Given the description of an element on the screen output the (x, y) to click on. 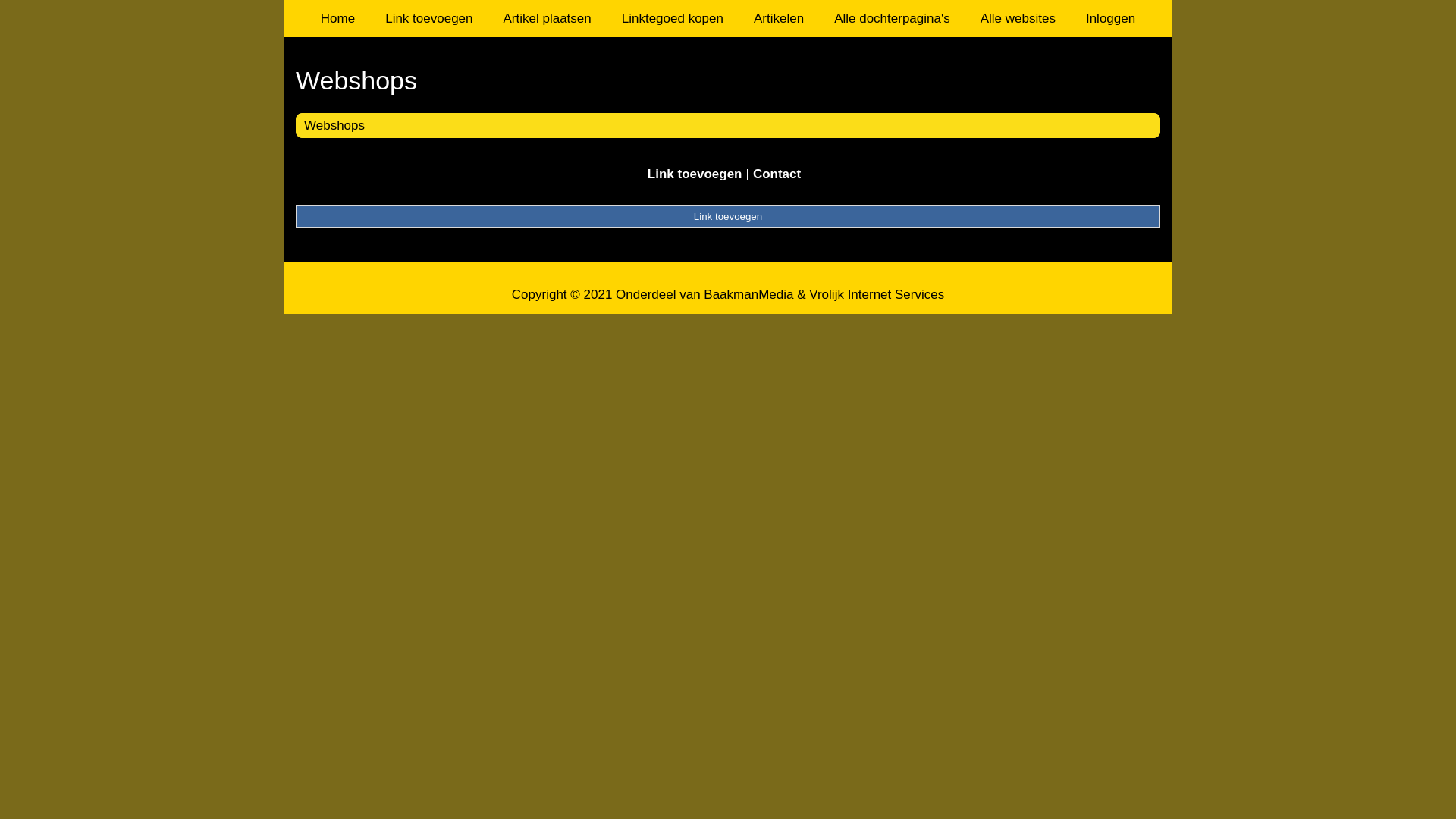
Linktegoed kopen Element type: text (672, 18)
Alle websites Element type: text (1017, 18)
Link toevoegen Element type: text (727, 215)
Contact Element type: text (776, 173)
Alle dochterpagina's Element type: text (892, 18)
BaakmanMedia Element type: text (748, 294)
Webshops Element type: text (334, 125)
Webshops Element type: text (727, 80)
Home Element type: text (337, 18)
Link toevoegen Element type: text (428, 18)
Artikelen Element type: text (778, 18)
Link toevoegen Element type: text (694, 173)
Vrolijk Internet Services Element type: text (876, 294)
Artikel plaatsen Element type: text (547, 18)
Inloggen Element type: text (1110, 18)
